Given the description of an element on the screen output the (x, y) to click on. 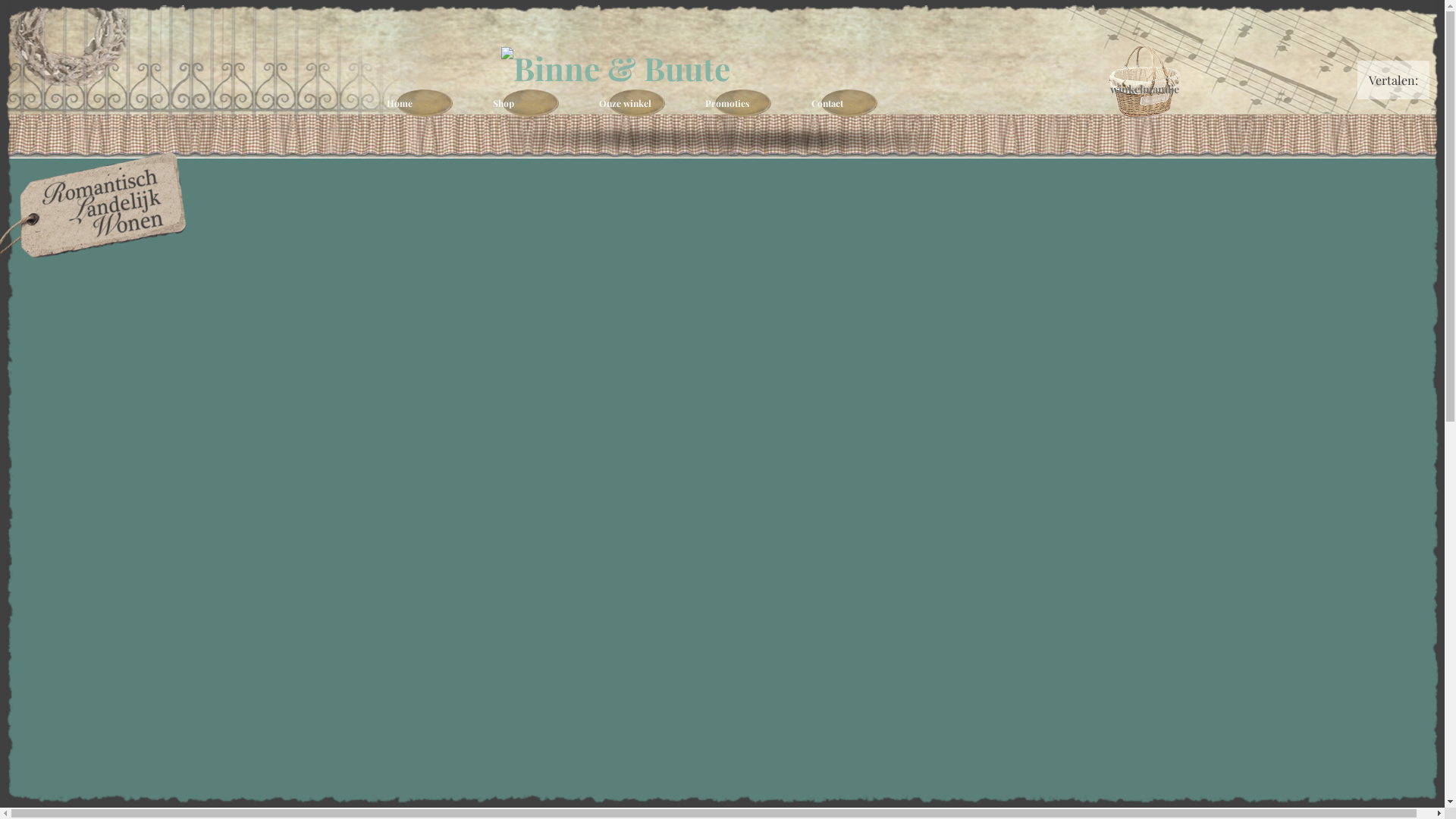
Binne & Buute Element type: text (727, 68)
Onze winkel Element type: text (636, 102)
Promoties Element type: text (742, 102)
Contact Element type: text (849, 102)
Home Element type: text (424, 102)
Shop Element type: text (530, 102)
winkelmandje Element type: text (1144, 81)
